Given the description of an element on the screen output the (x, y) to click on. 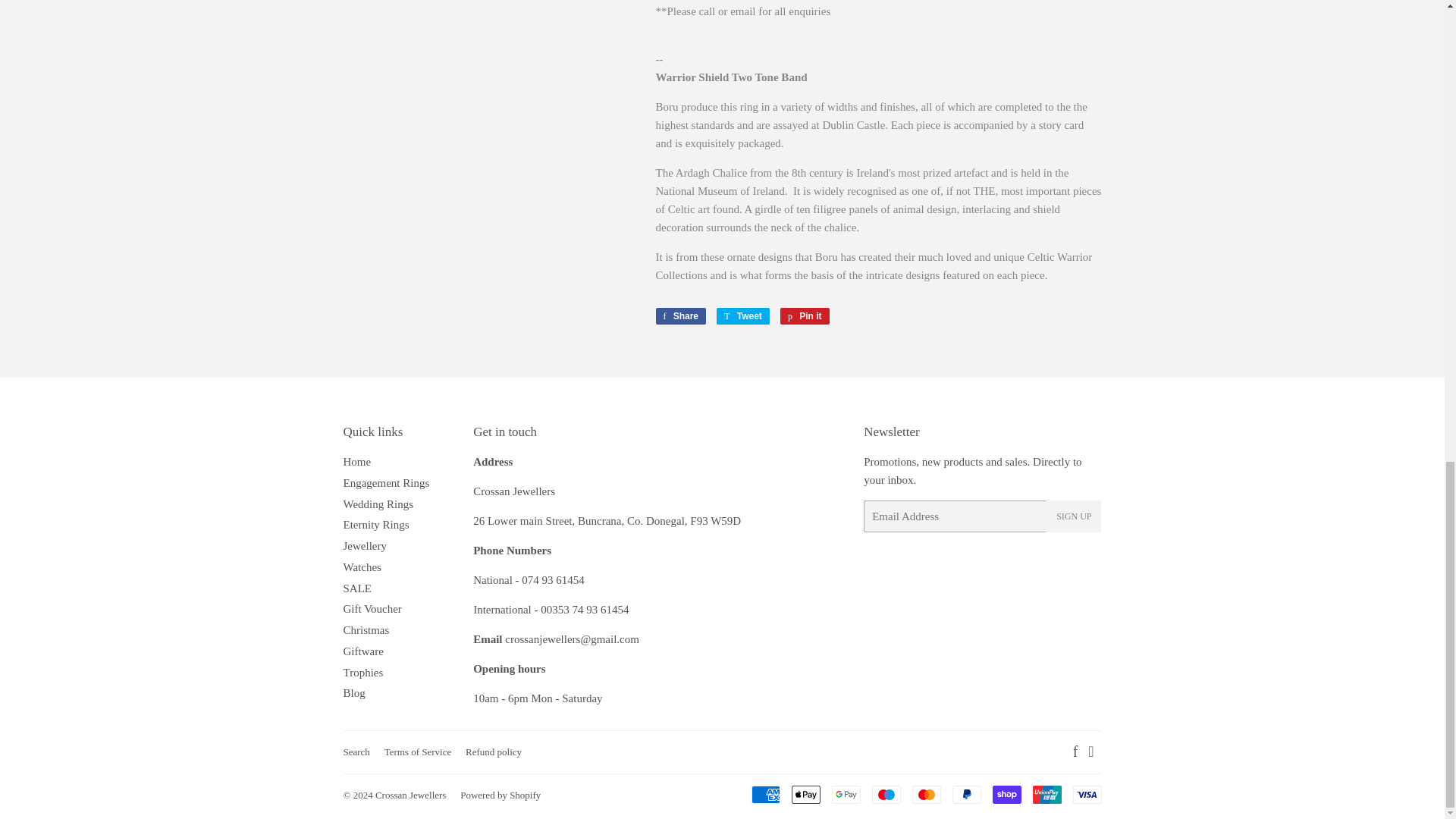
Visa (1085, 794)
American Express (764, 794)
Union Pay (1046, 794)
Apple Pay (806, 794)
Shop Pay (1005, 794)
Pin on Pinterest (804, 315)
Google Pay (845, 794)
Mastercard (925, 794)
Maestro (886, 794)
Tweet on Twitter (743, 315)
PayPal (966, 794)
Share on Facebook (680, 315)
